Given the description of an element on the screen output the (x, y) to click on. 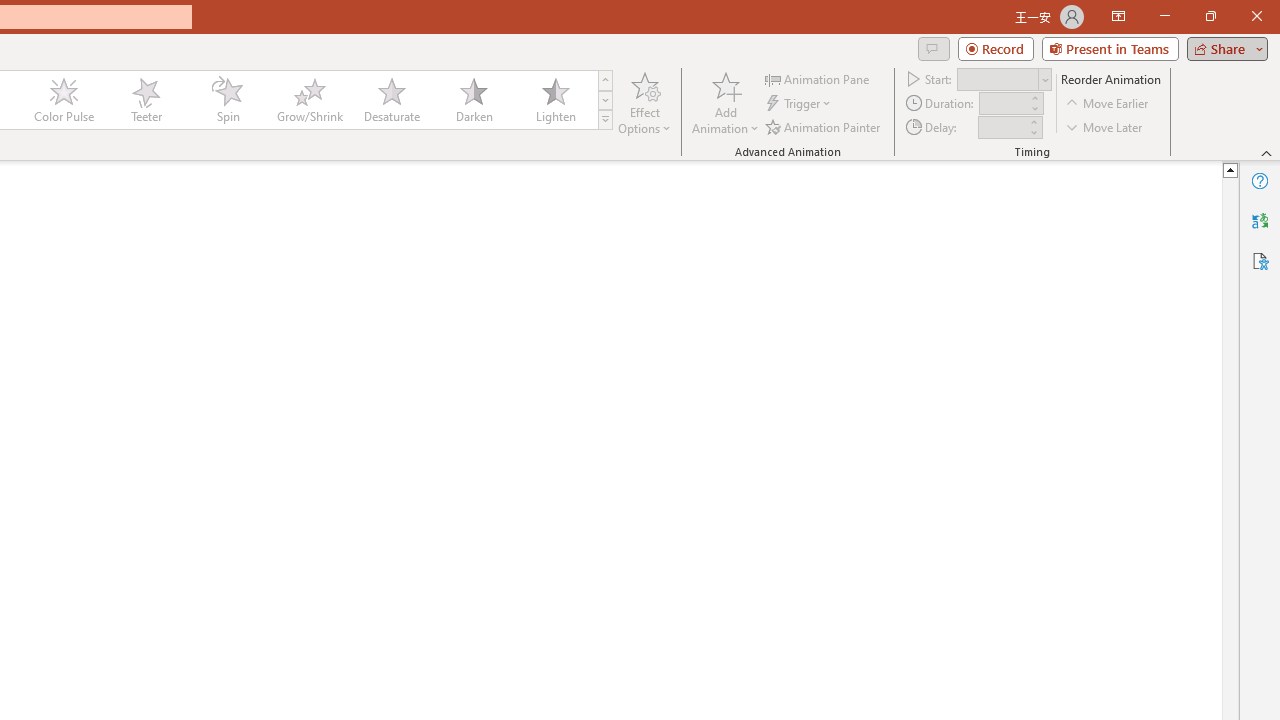
Teeter (145, 100)
Darken (473, 100)
Trigger (799, 103)
Less (1033, 132)
Lighten (555, 100)
Effect Options (644, 102)
Animation Painter (824, 126)
